Given the description of an element on the screen output the (x, y) to click on. 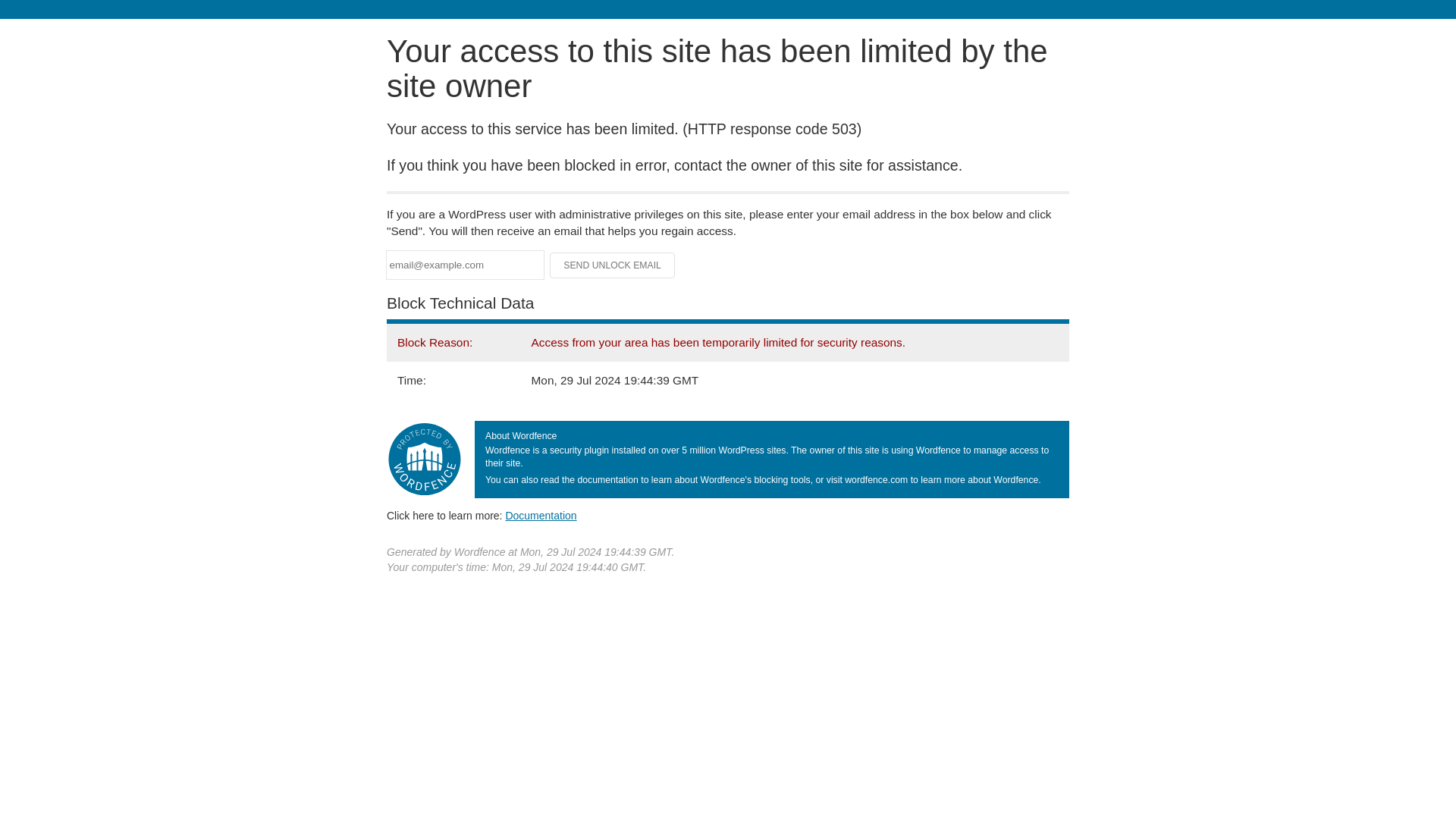
Send Unlock Email (612, 265)
Documentation (540, 515)
Send Unlock Email (612, 265)
